Given the description of an element on the screen output the (x, y) to click on. 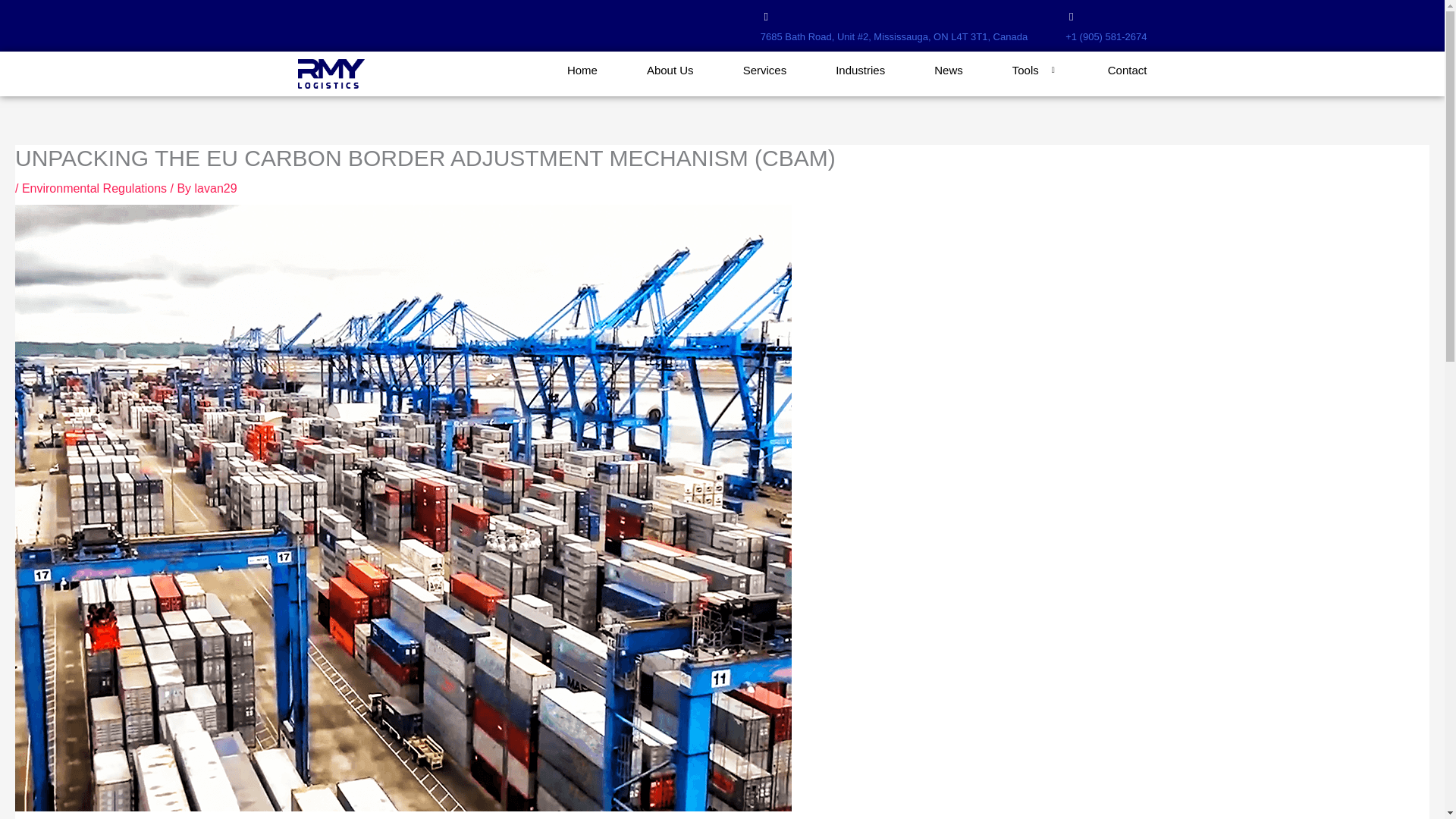
Services (740, 69)
Tools (1010, 69)
Industries (835, 69)
About Us (645, 69)
lavan29 (216, 187)
Environmental Regulations (94, 187)
Contact (1102, 69)
View all posts by lavan29 (216, 187)
Home (557, 69)
News (923, 69)
